Given the description of an element on the screen output the (x, y) to click on. 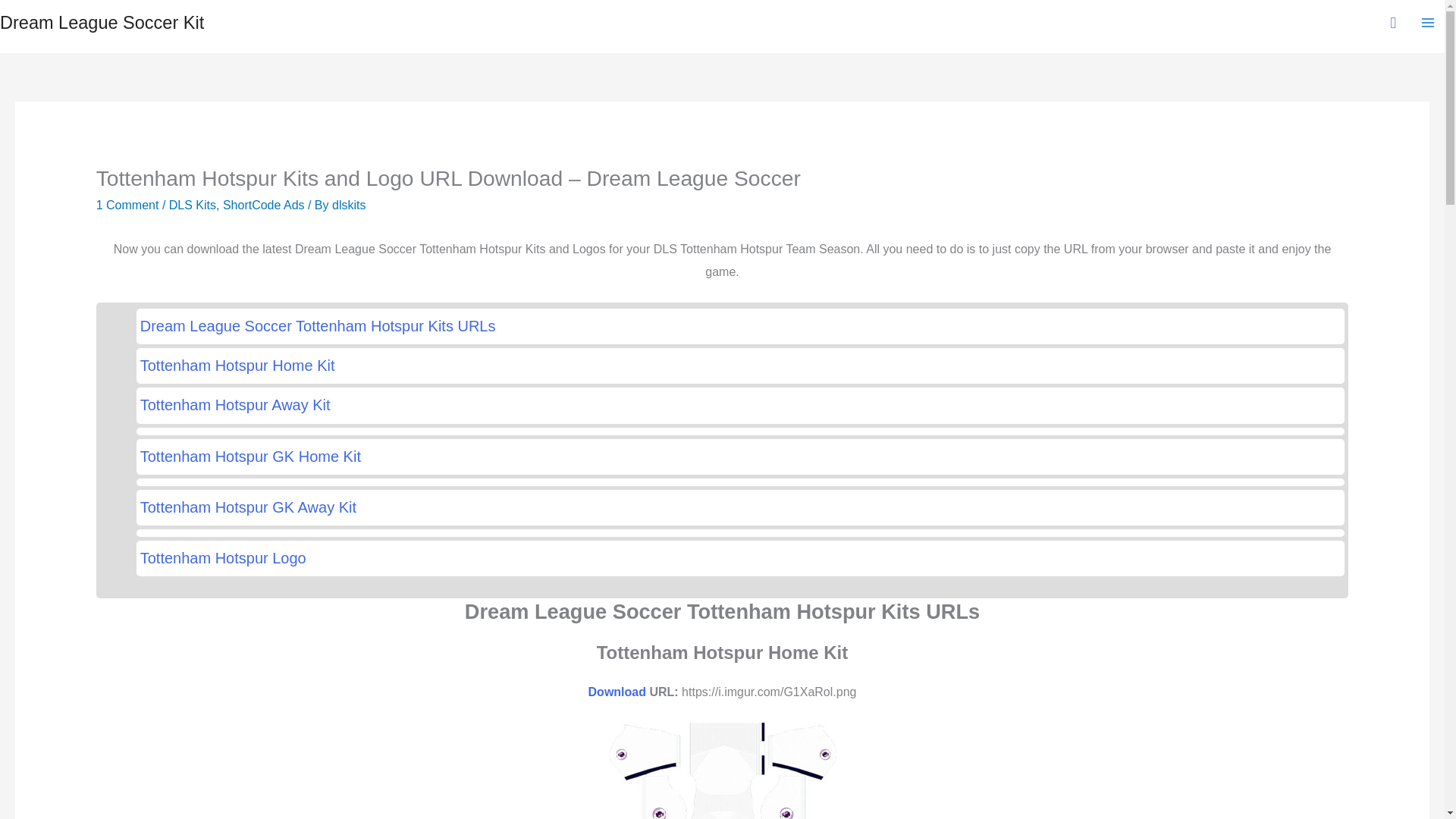
Tottenham Hotspur GK Away Kit (739, 507)
ShortCode Ads (263, 205)
Tottenham Hotspur Home Kit (739, 366)
Tottenham Hotspur Logo (739, 558)
Download (617, 691)
Search (18, 15)
1 Comment (127, 205)
Dream League Soccer Kit (101, 22)
DLS Kits (191, 205)
View all posts by dlskits (348, 205)
